Given the description of an element on the screen output the (x, y) to click on. 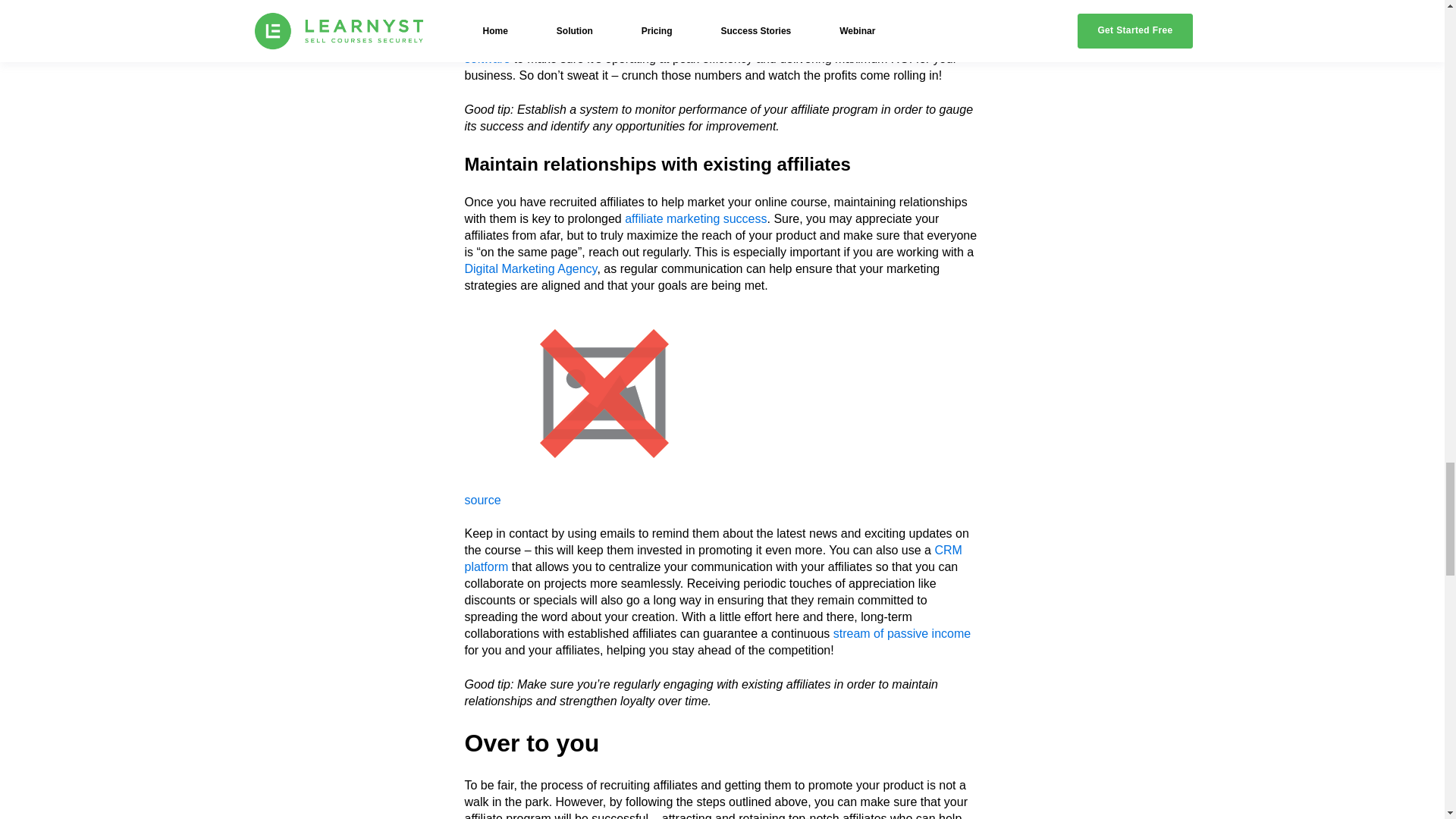
linking Google Analytics to your CRM (709, 33)
affiliate marketing success (695, 218)
CRM platform (712, 558)
stream of passive income (901, 633)
source (482, 499)
revenue earned per click (756, 8)
affiliate software (697, 50)
Digital Marketing Agency (530, 268)
